Given the description of an element on the screen output the (x, y) to click on. 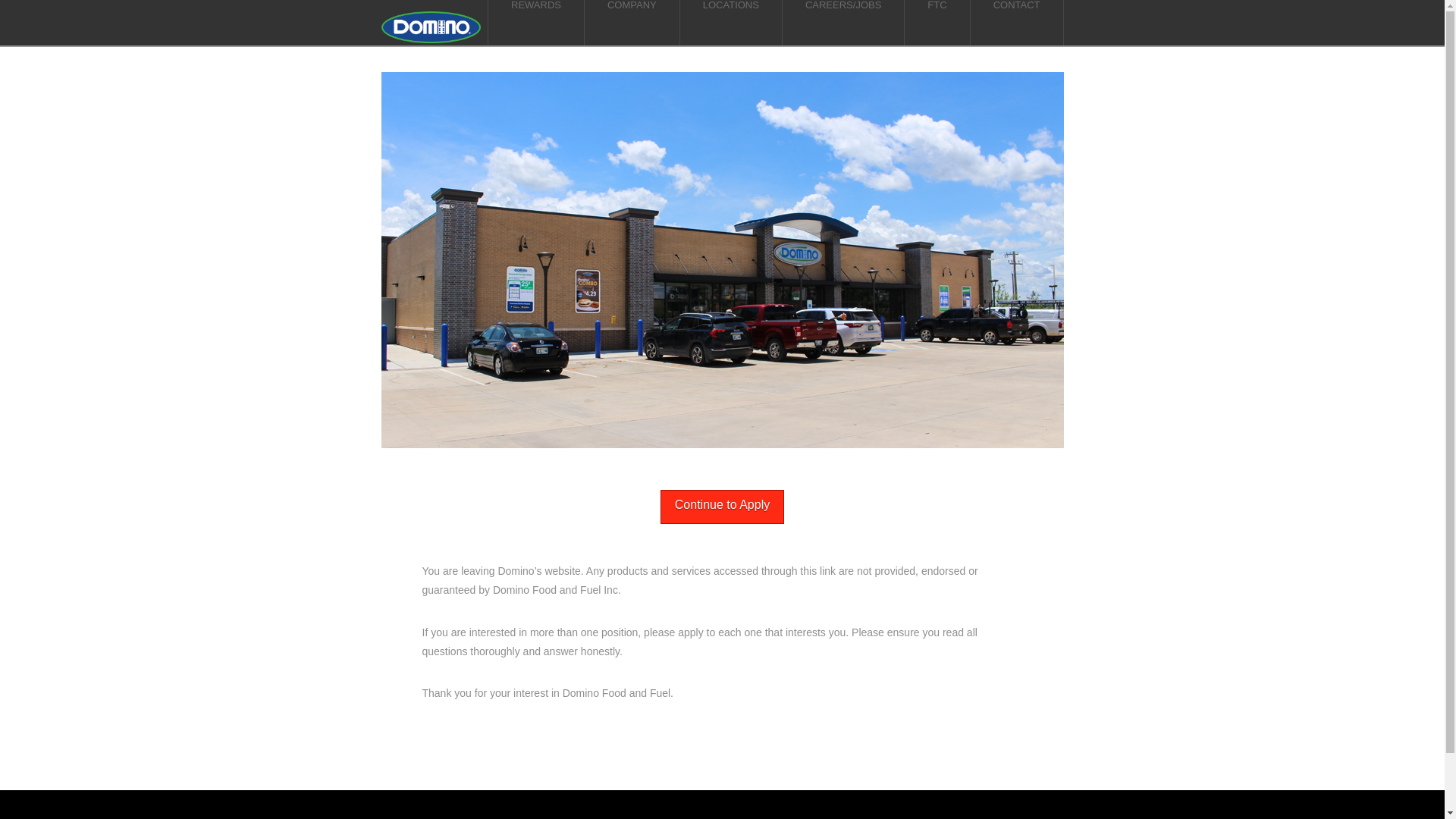
COMPANY (632, 22)
REWARDS (536, 22)
Continue to Apply (722, 506)
DOMINO PORTAL (792, 818)
Continue to Apply (722, 506)
CONTACT (1017, 22)
FTC (936, 22)
LOCATIONS (731, 22)
